Given the description of an element on the screen output the (x, y) to click on. 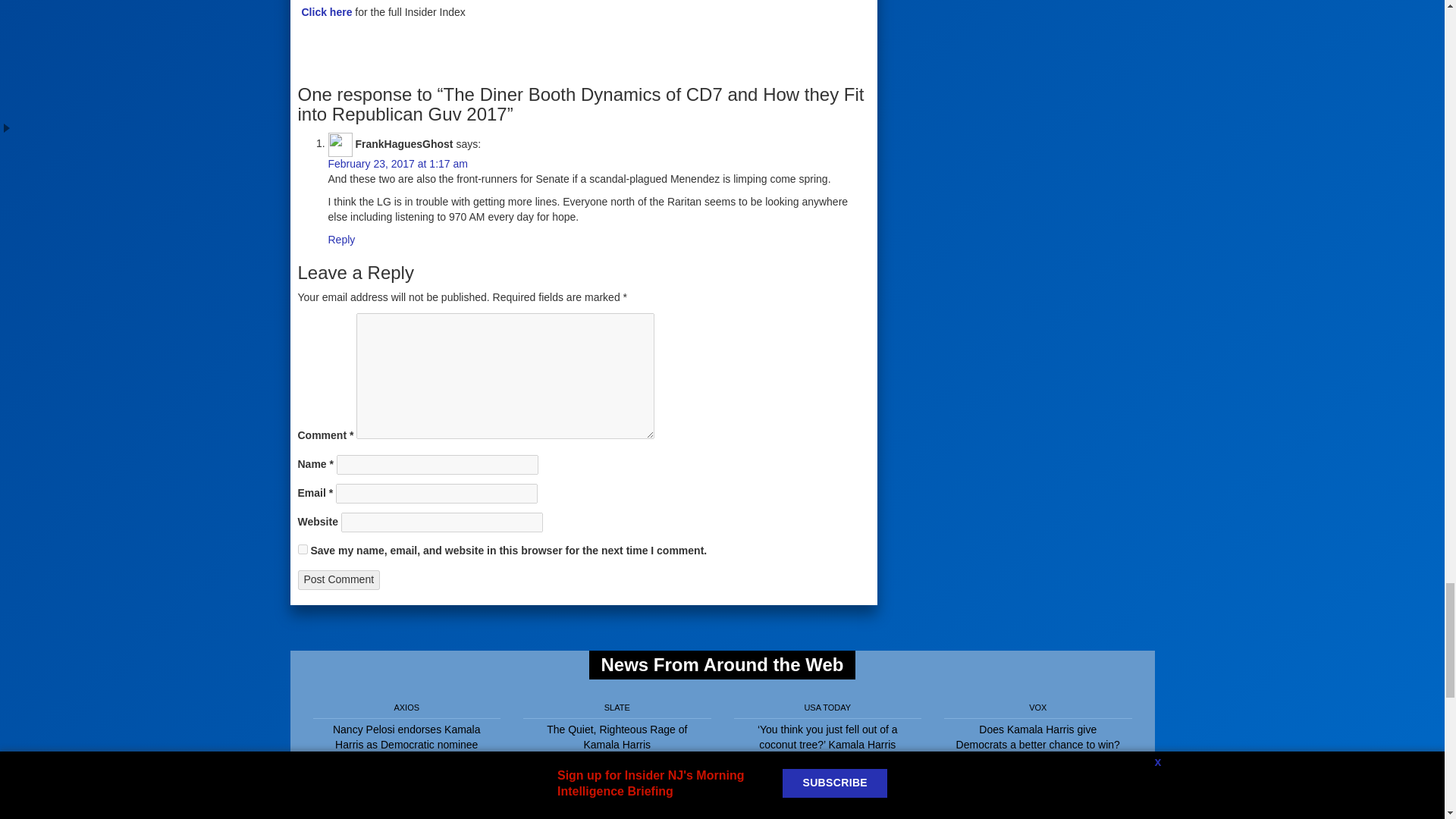
Post Comment (338, 579)
yes (302, 549)
